Given the description of an element on the screen output the (x, y) to click on. 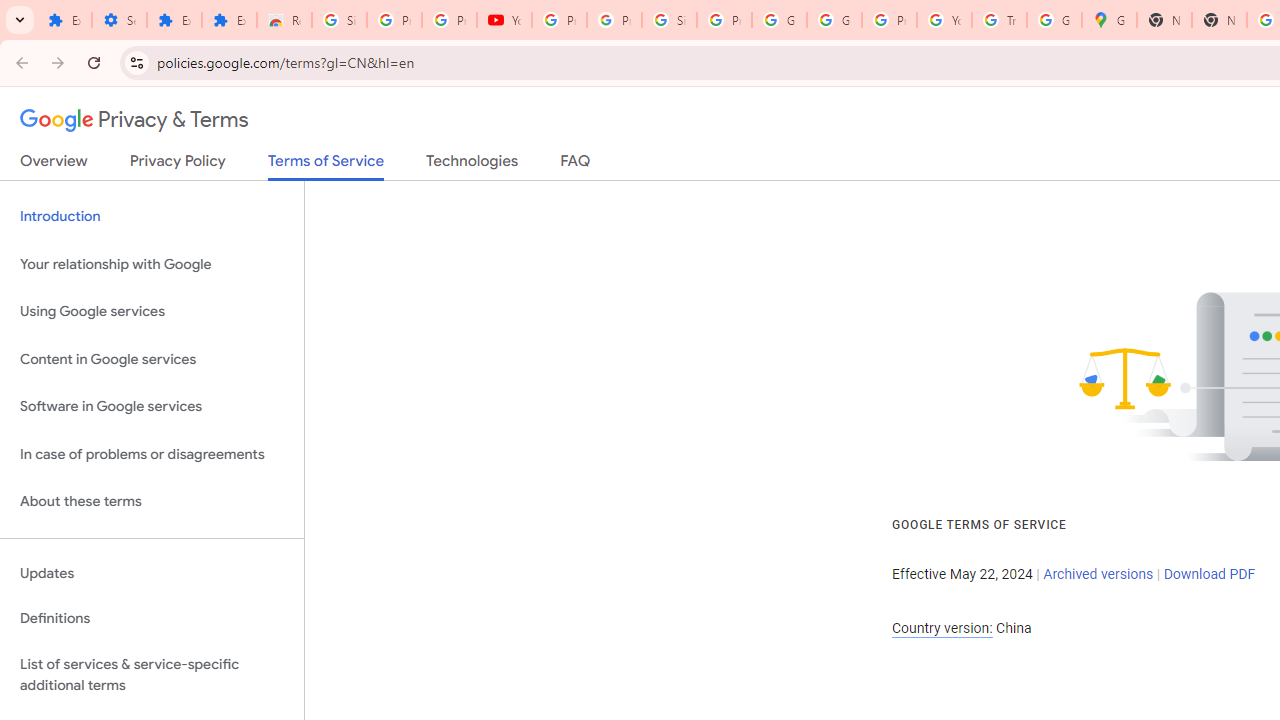
Download PDF (1209, 574)
Definitions (152, 619)
Content in Google services (152, 358)
YouTube (504, 20)
